Given the description of an element on the screen output the (x, y) to click on. 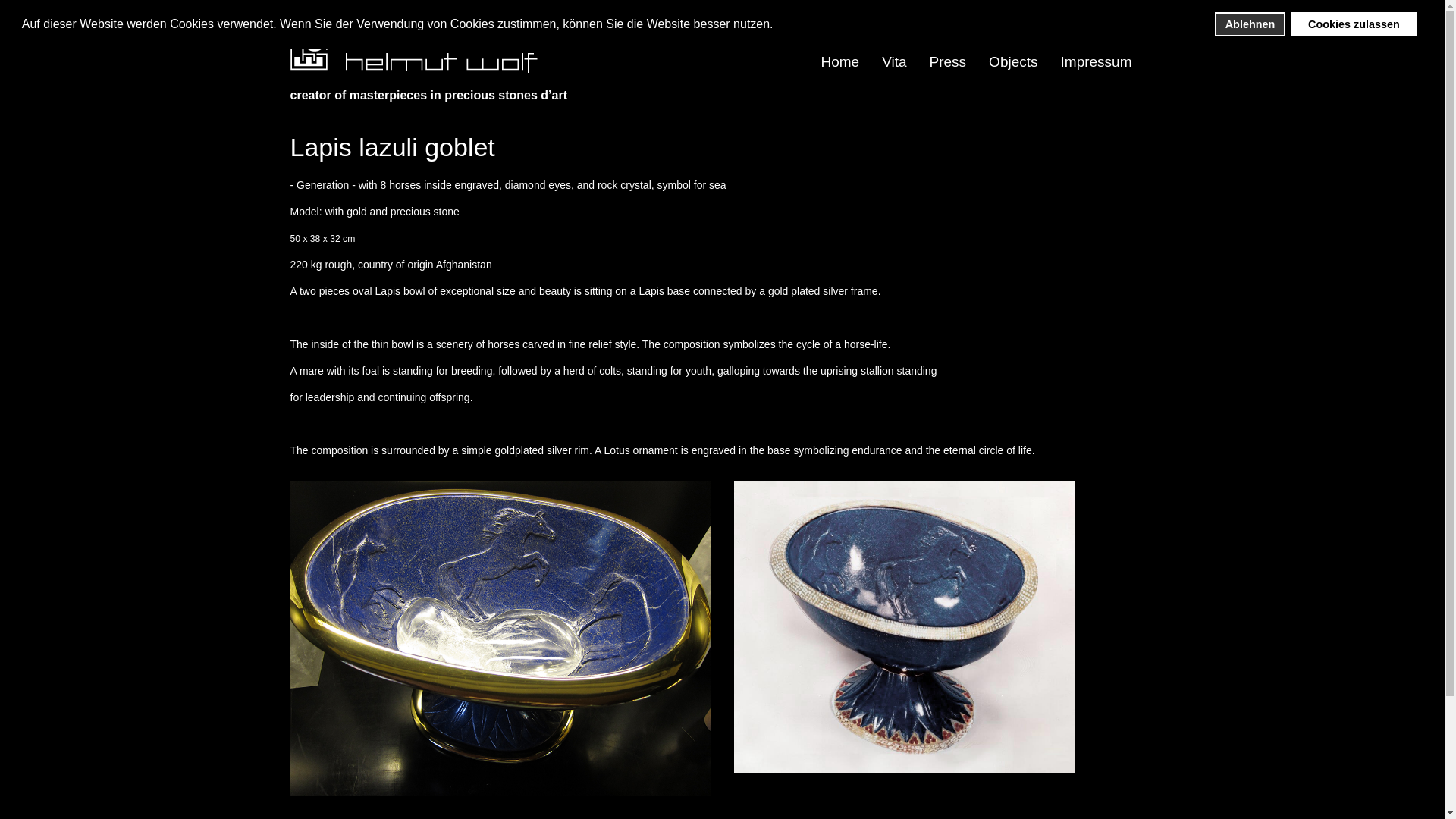
Cookies zulassen (1353, 24)
Impressum (1095, 62)
Vita (893, 62)
Press (948, 62)
Home (839, 62)
Objects (1012, 62)
Deutsch (1128, 12)
Ablehnen (1249, 24)
